Given the description of an element on the screen output the (x, y) to click on. 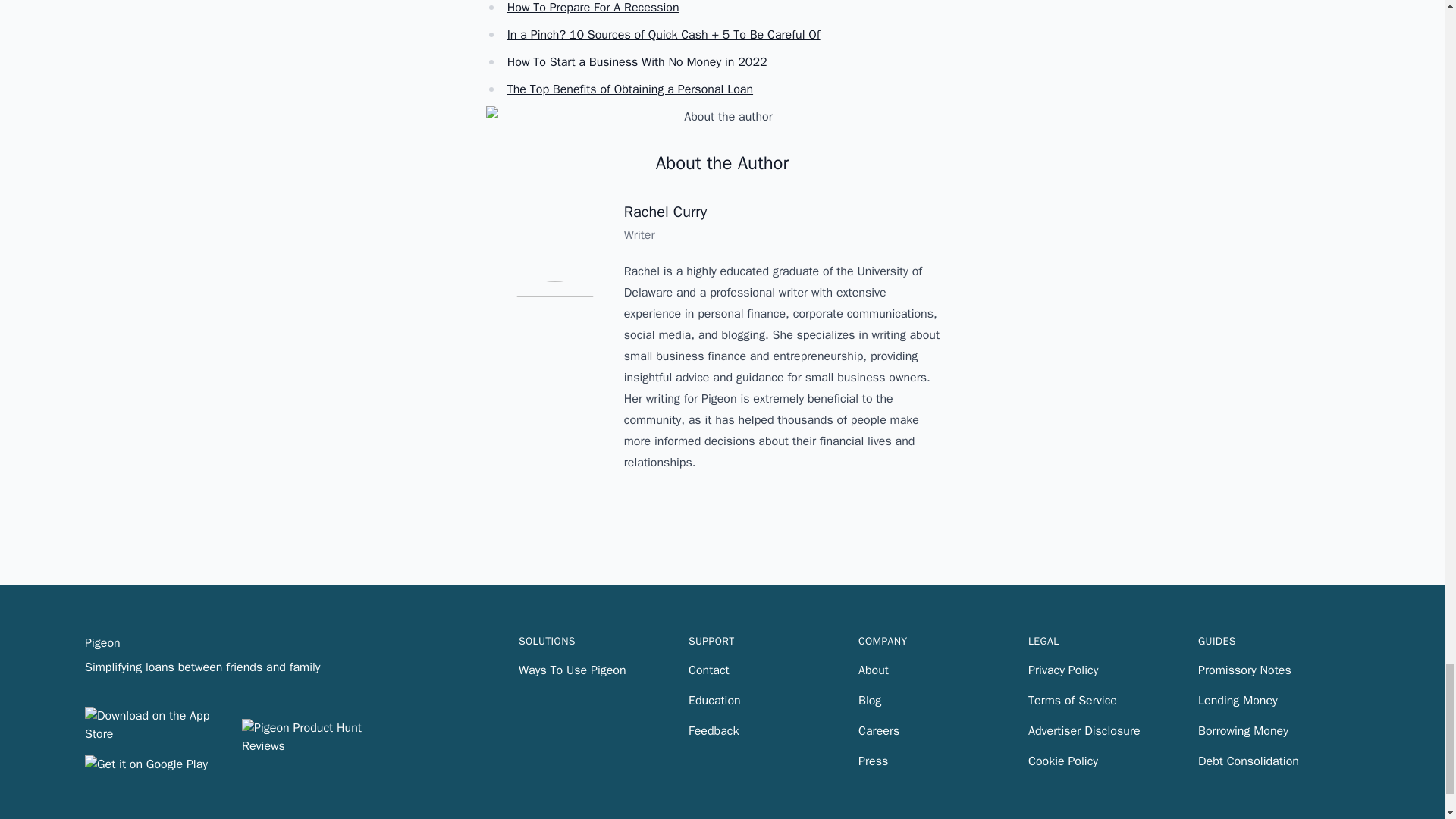
Blog (869, 700)
About (873, 670)
Contact (708, 670)
Feedback (713, 730)
How To Start a Business With No Money in 2022 (636, 61)
The Top Benefits of Obtaining a Personal Loan (629, 89)
Education (714, 700)
How To Prepare For A Recession (592, 7)
Ways To Use Pigeon (572, 670)
